Given the description of an element on the screen output the (x, y) to click on. 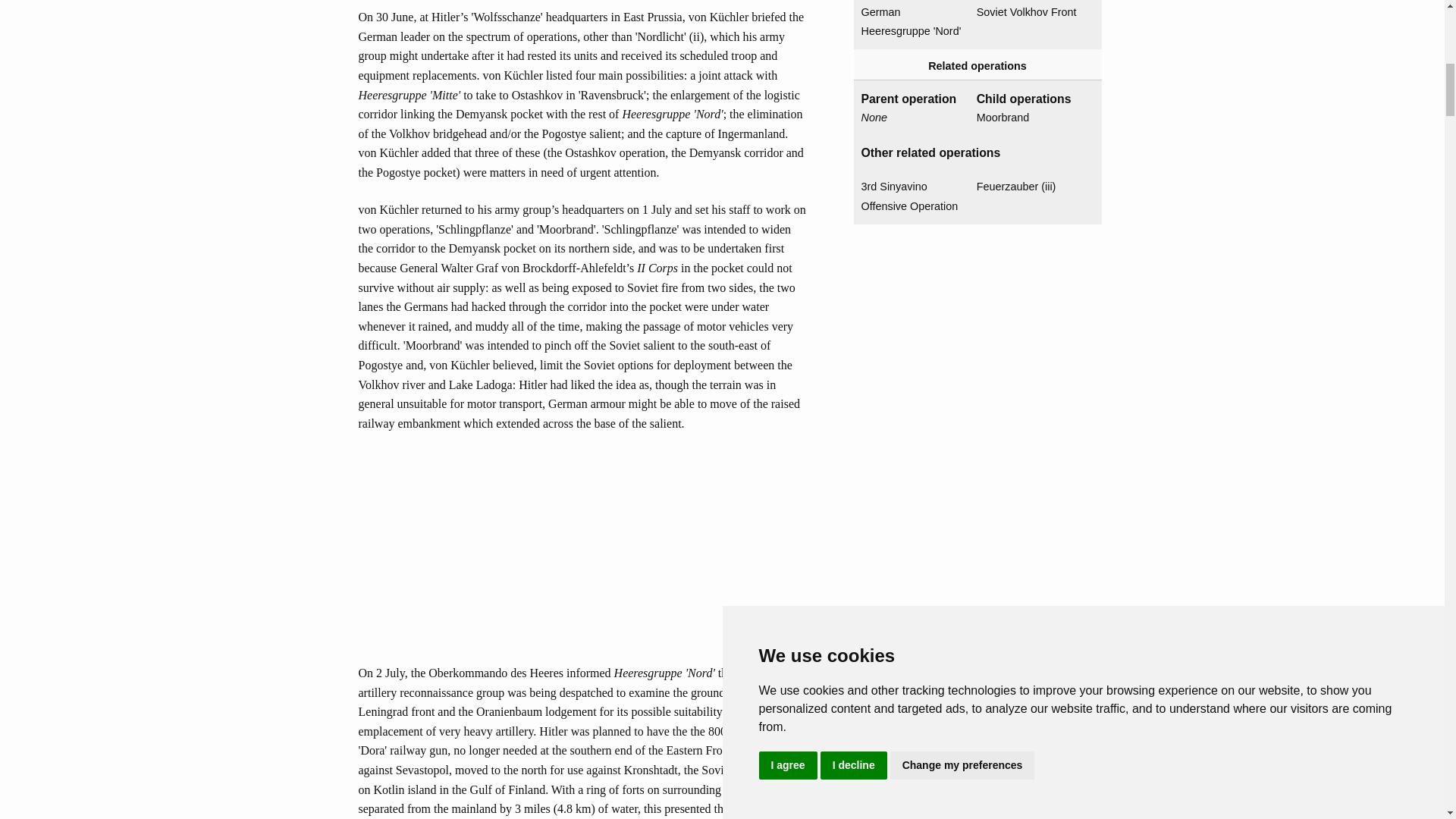
German 18th Army (913, 1)
Moorbrand (1028, 117)
Soviet Volkhov Front (1028, 12)
Advertisement (583, 557)
Soviet Leningrad Front (1028, 1)
German Heeresgruppe 'Nord' (913, 22)
3rd Sinyavino Offensive Operation (913, 196)
